Given the description of an element on the screen output the (x, y) to click on. 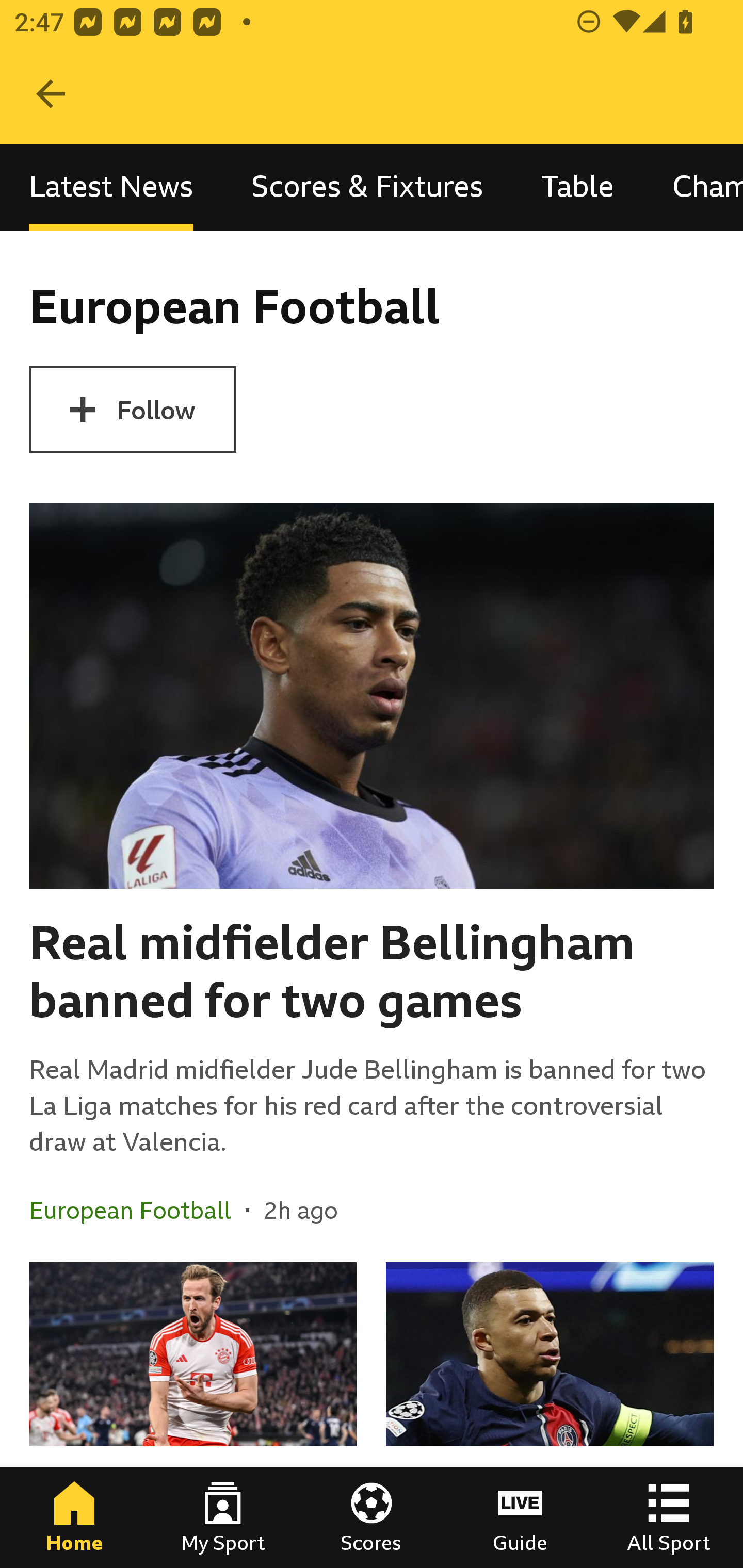
Navigate up (50, 93)
Latest News, selected Latest News (111, 187)
Scores & Fixtures (367, 187)
Table (577, 187)
Champions League (693, 187)
Follow European Football Follow (132, 409)
Kane scores two as stylish Bayern beat Lazio (192, 1415)
Mbappe has 'no problems' with manager Enrique (549, 1415)
My Sport (222, 1517)
Scores (371, 1517)
Guide (519, 1517)
All Sport (668, 1517)
